Given the description of an element on the screen output the (x, y) to click on. 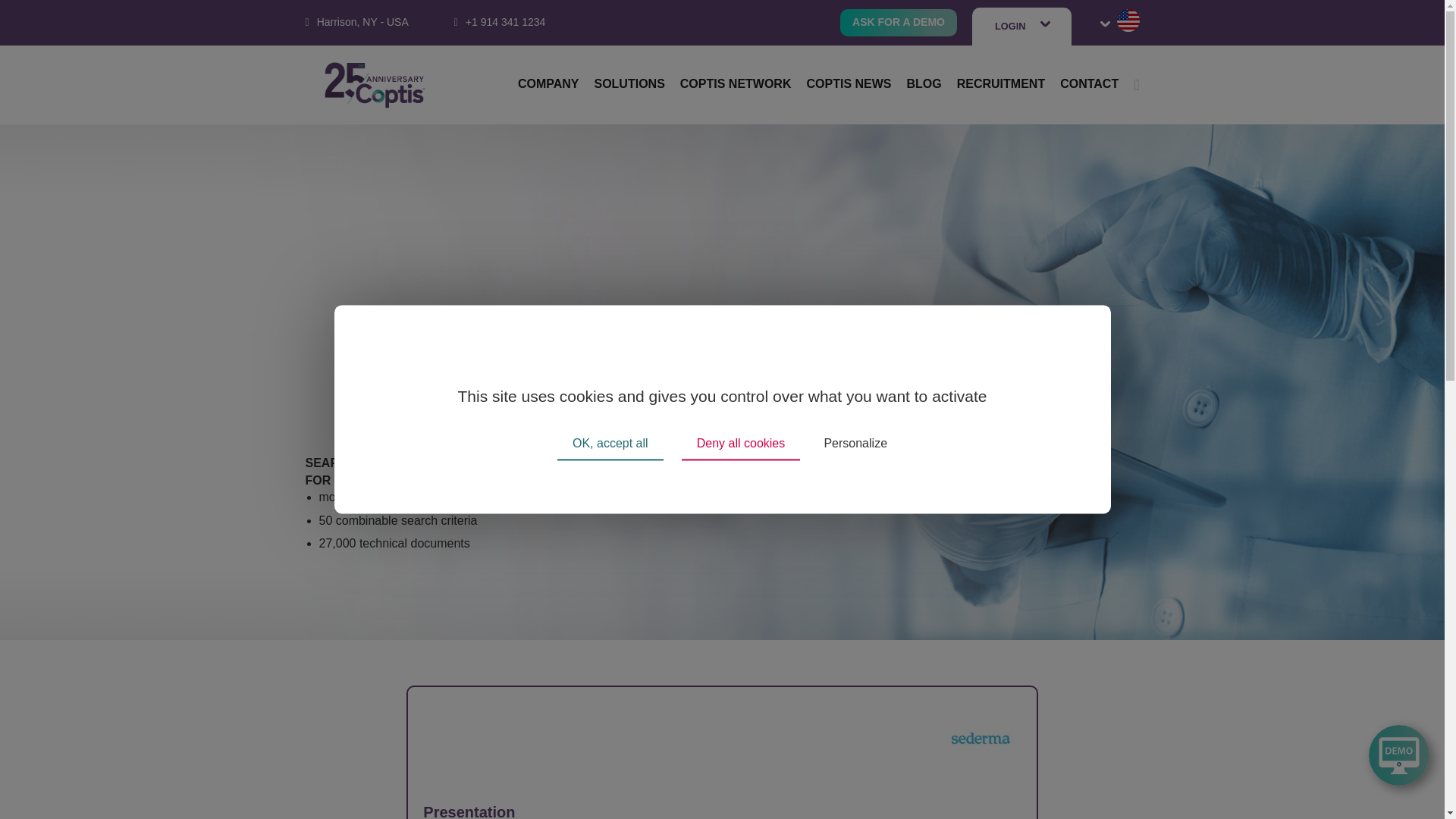
BLOG (924, 83)
RECRUITMENT (1000, 83)
ASK FOR A DEMO (898, 22)
CONTACT (1088, 83)
Harrison, NY - USA (363, 21)
